Given the description of an element on the screen output the (x, y) to click on. 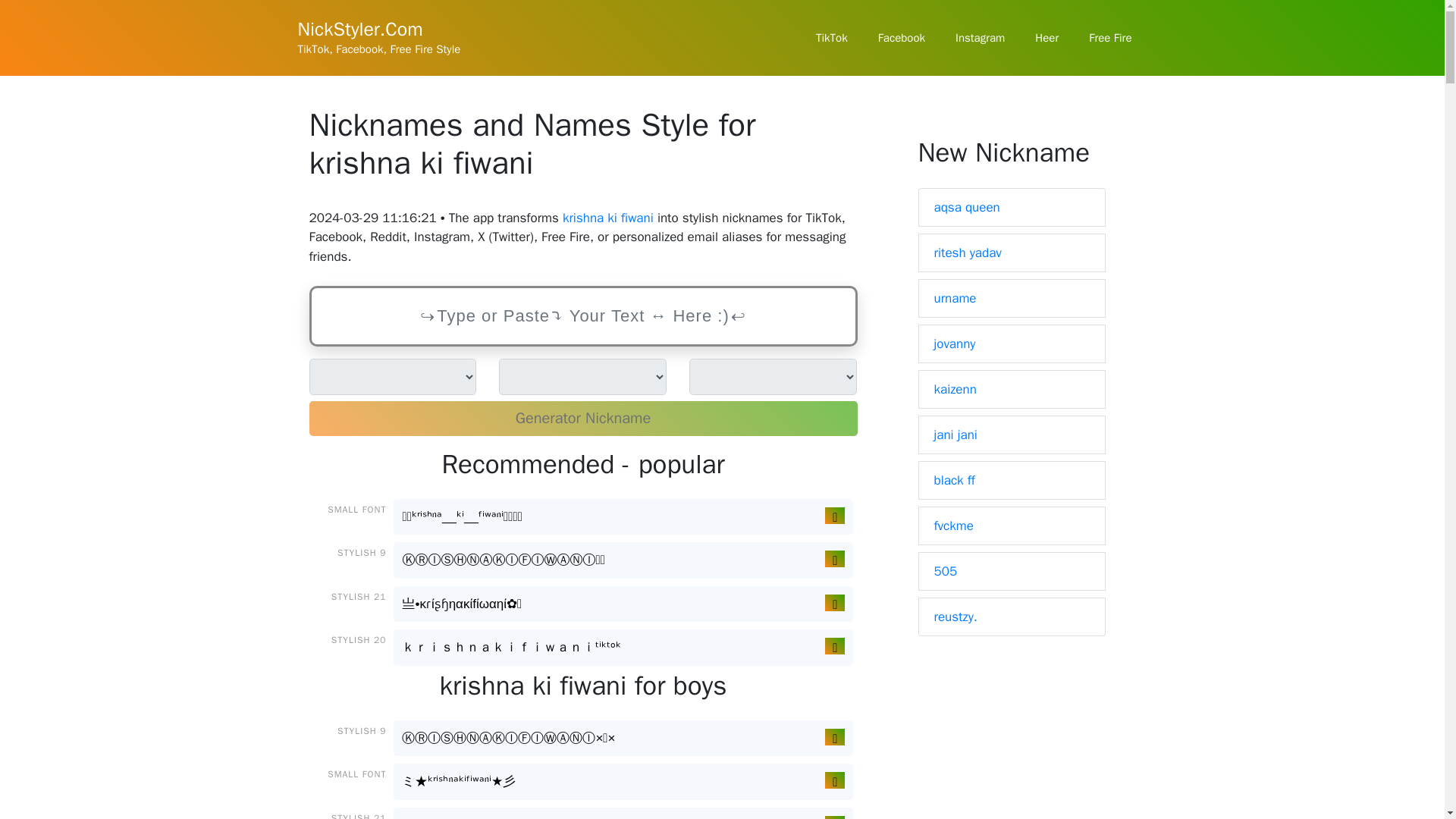
TikTok (831, 37)
Heer (1047, 37)
krishna ki fiwani (607, 217)
Generator Nickname (582, 418)
Free Fire (1110, 37)
Facebook (901, 37)
Instagram (980, 37)
NickStyler.Com (359, 28)
